Given the description of an element on the screen output the (x, y) to click on. 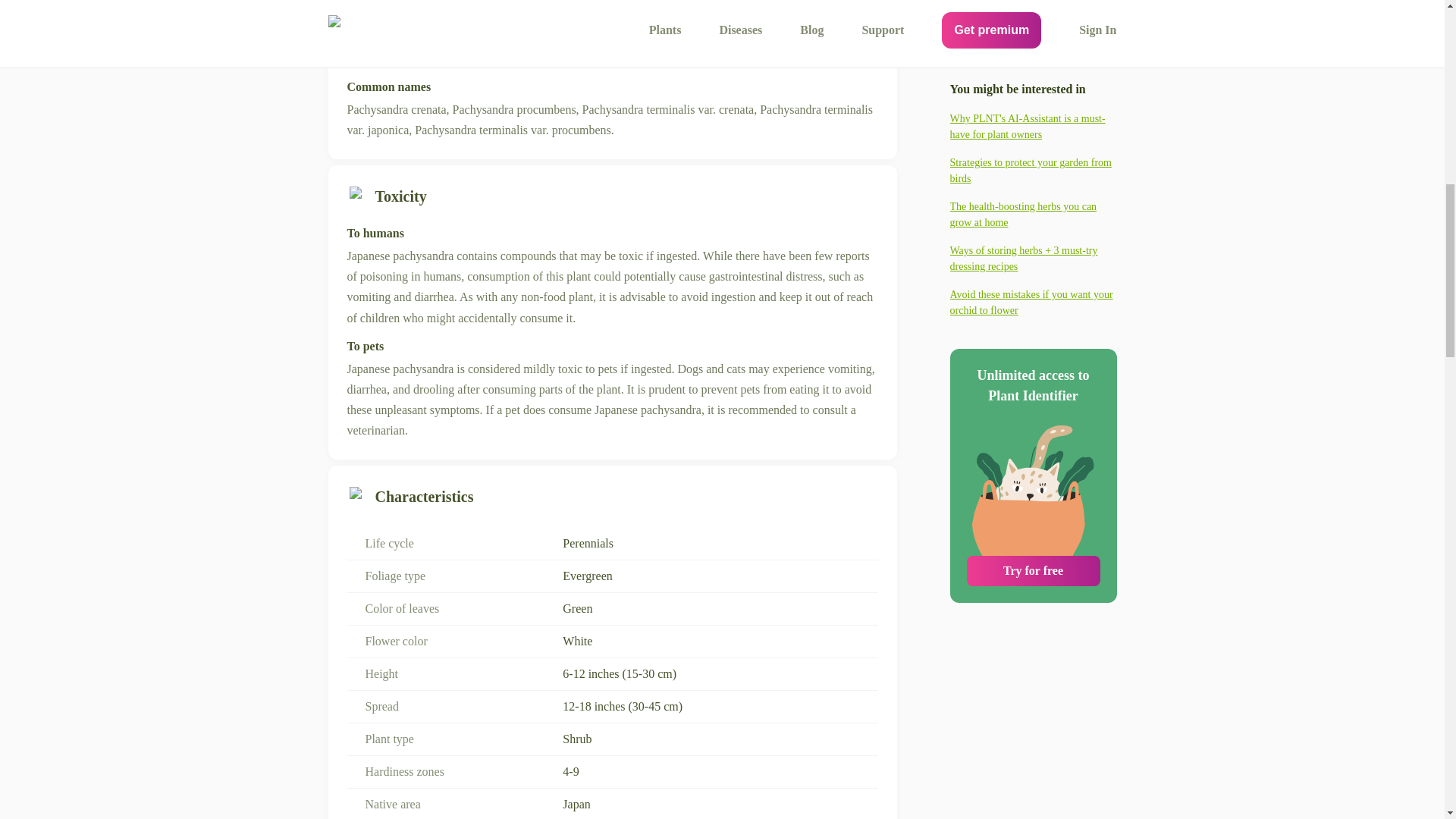
Try for free (1032, 281)
Avoid these mistakes if you want your orchid to flower (1032, 14)
